Given the description of an element on the screen output the (x, y) to click on. 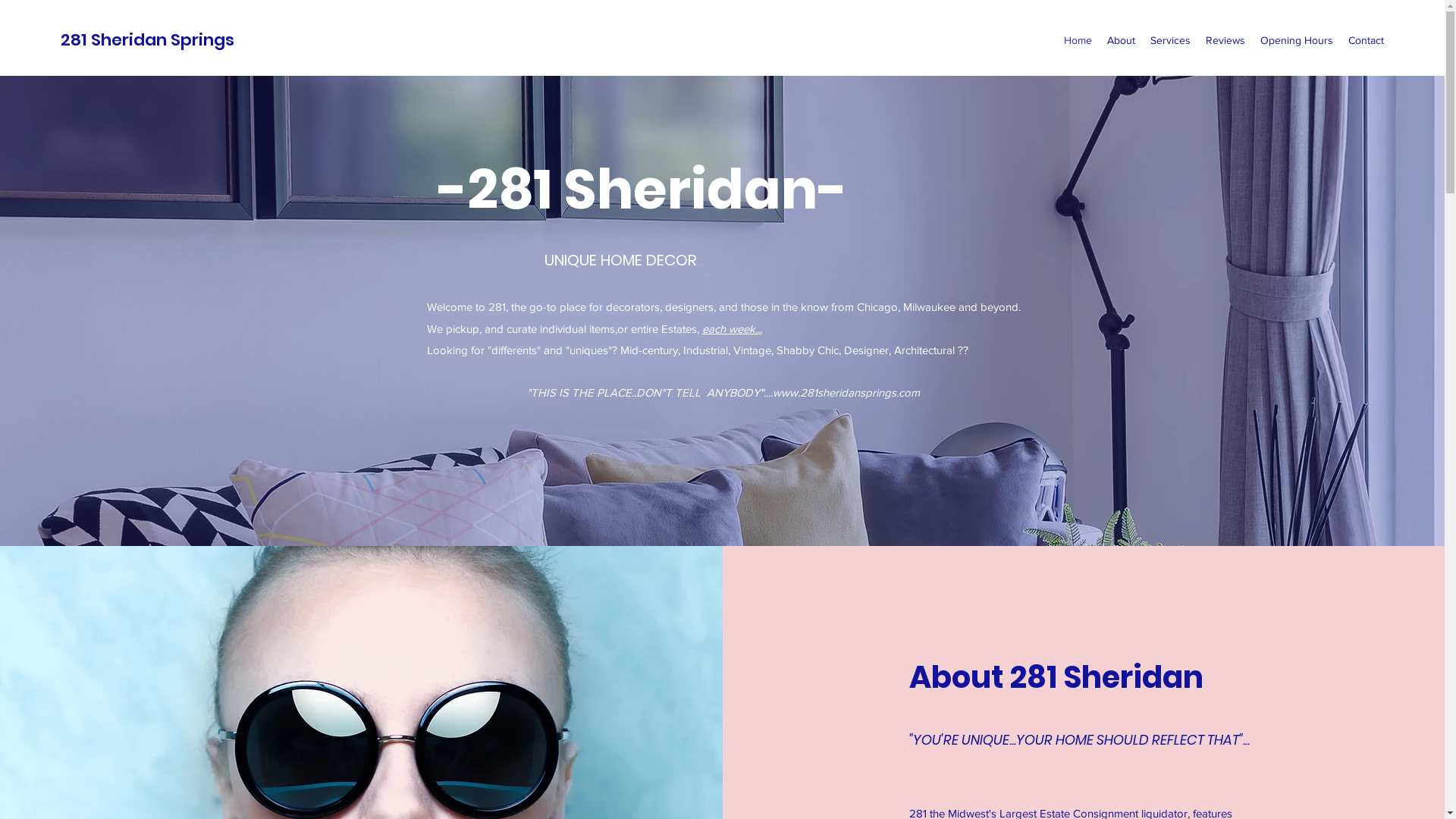
Contact Element type: text (1365, 39)
Reviews Element type: text (1225, 39)
Opening Hours Element type: text (1296, 39)
About Element type: text (1120, 39)
Home Element type: text (1077, 39)
281 Sheridan Springs Element type: text (147, 39)
Services Element type: text (1170, 39)
www.281sheridansprings.com Element type: text (845, 391)
